Given the description of an element on the screen output the (x, y) to click on. 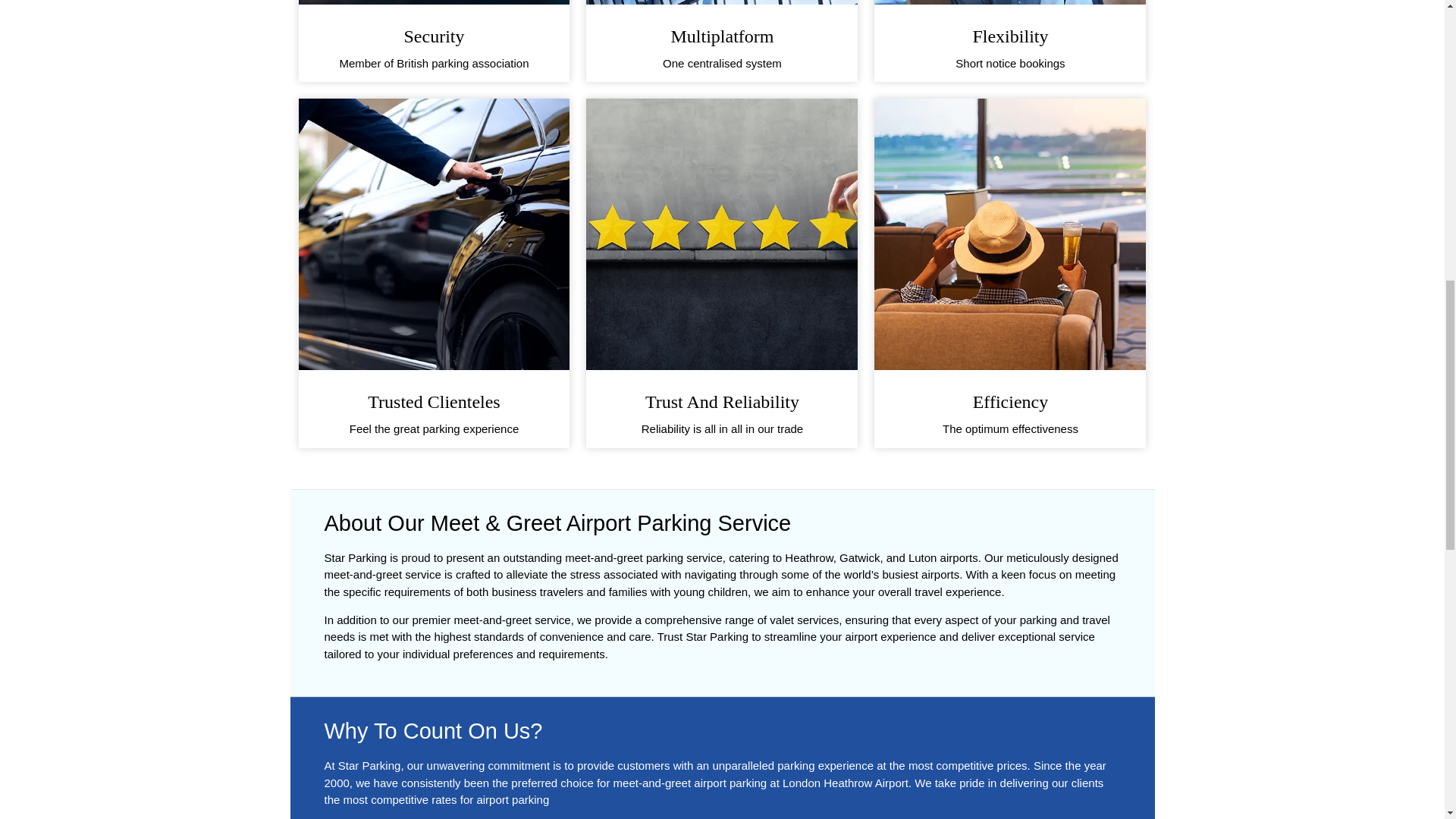
Trust And Reliability (722, 401)
Security (433, 35)
Flexibility (1010, 35)
Trusted Clienteles (433, 401)
Efficiency (1010, 401)
Multiplatform (721, 35)
